Given the description of an element on the screen output the (x, y) to click on. 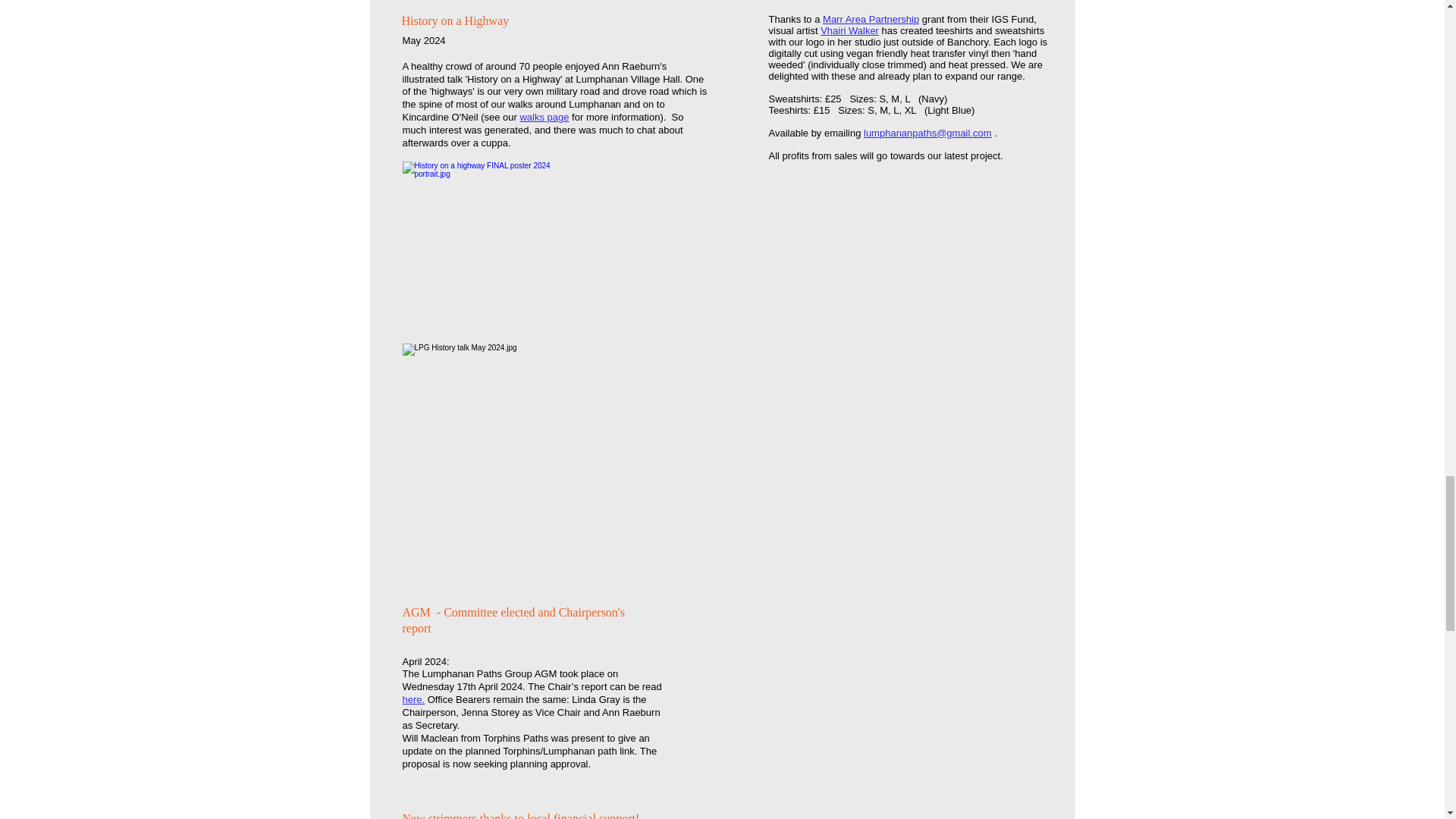
here. (413, 699)
walks page (544, 116)
Marr Area Partnership (870, 19)
Vhairi Walker (850, 30)
